Given the description of an element on the screen output the (x, y) to click on. 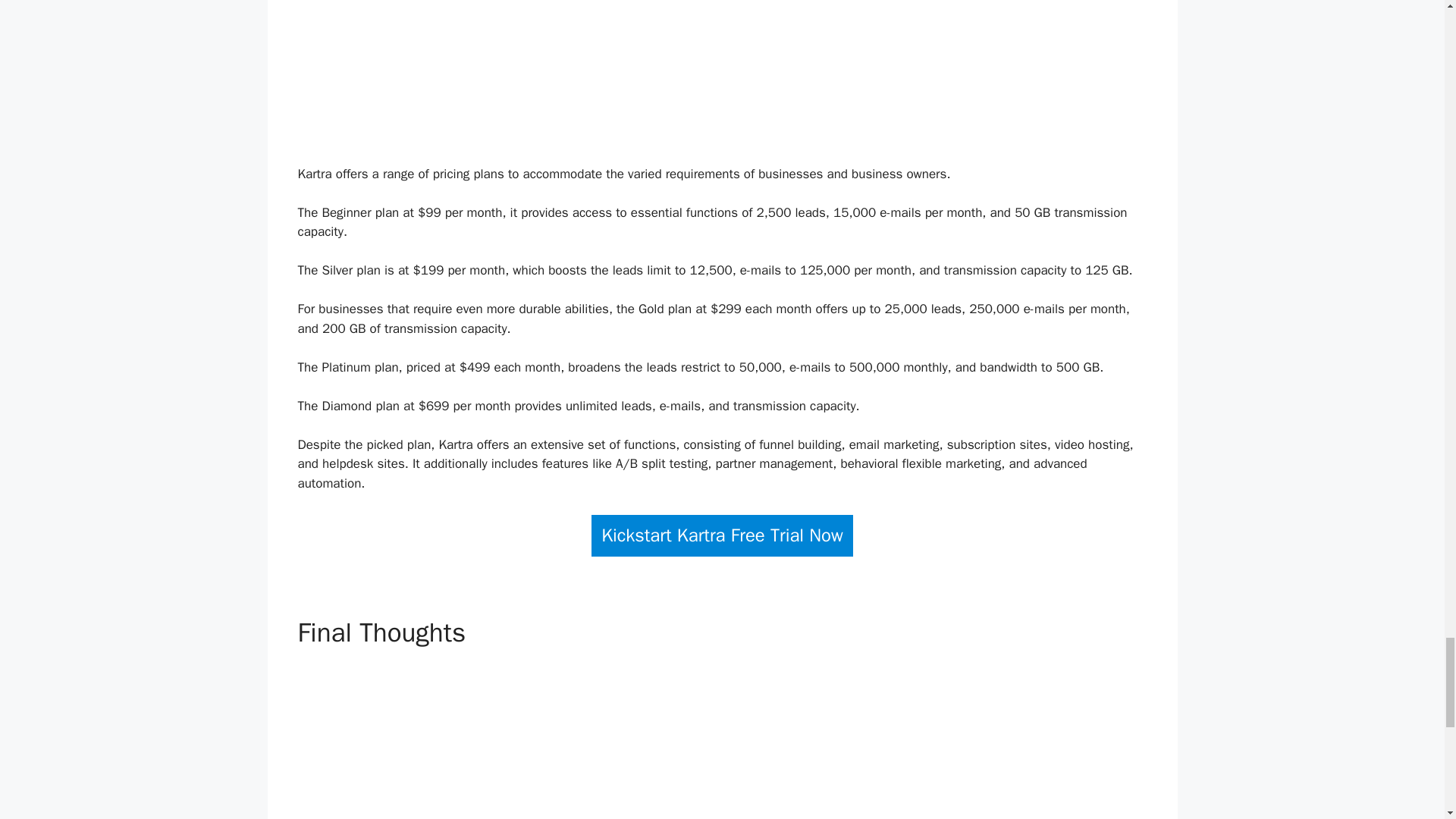
Kickstart Kartra Free Trial Now (722, 535)
